Given the description of an element on the screen output the (x, y) to click on. 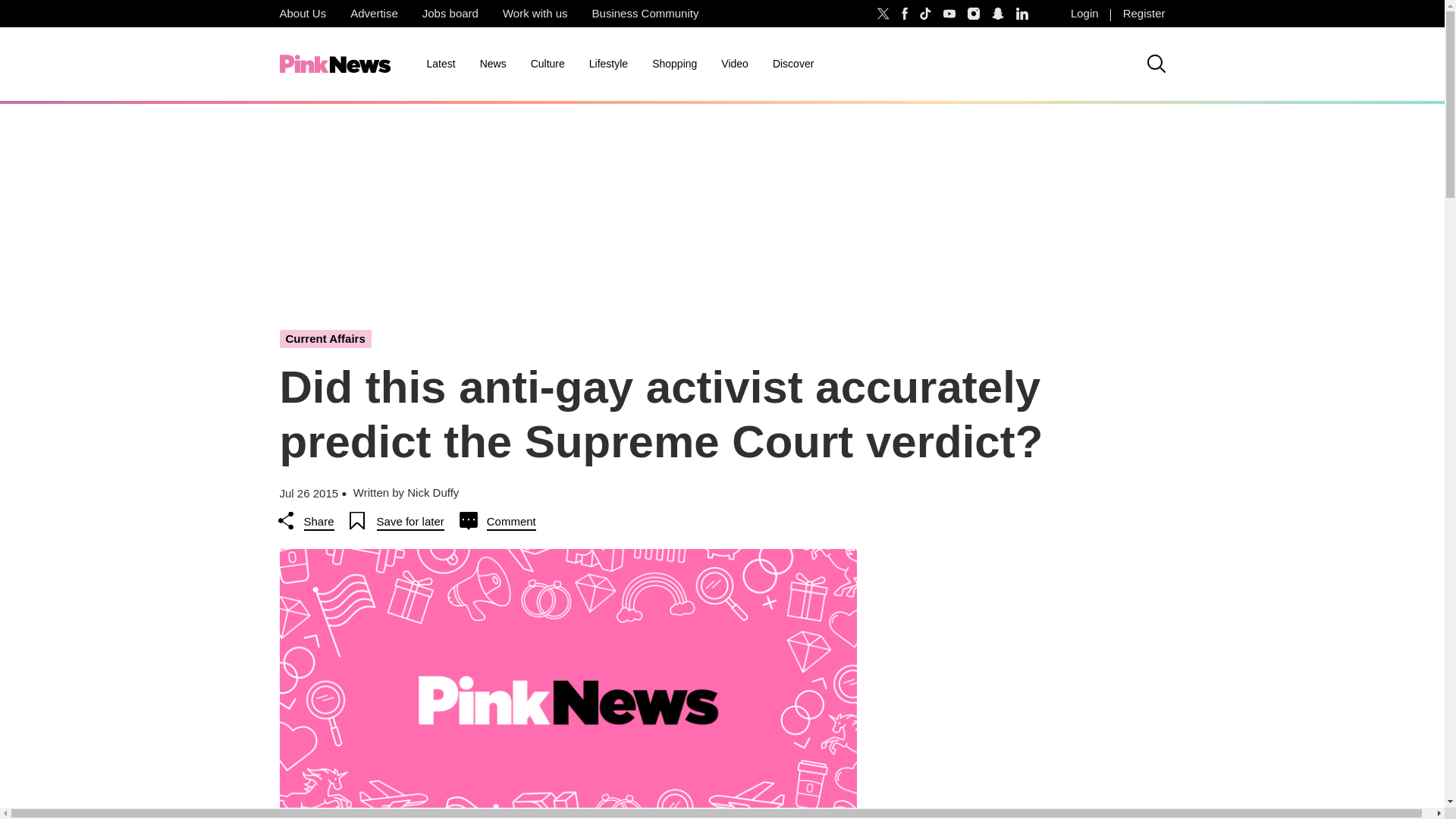
Follow PinkNews on LinkedIn (1021, 13)
Business Community (645, 13)
Lifestyle (608, 63)
Login (1084, 13)
Register (1143, 13)
Jobs board (450, 13)
Work with us (534, 13)
News (493, 63)
Latest (440, 63)
Advertise (373, 13)
Culture (547, 63)
About Us (301, 13)
